Given the description of an element on the screen output the (x, y) to click on. 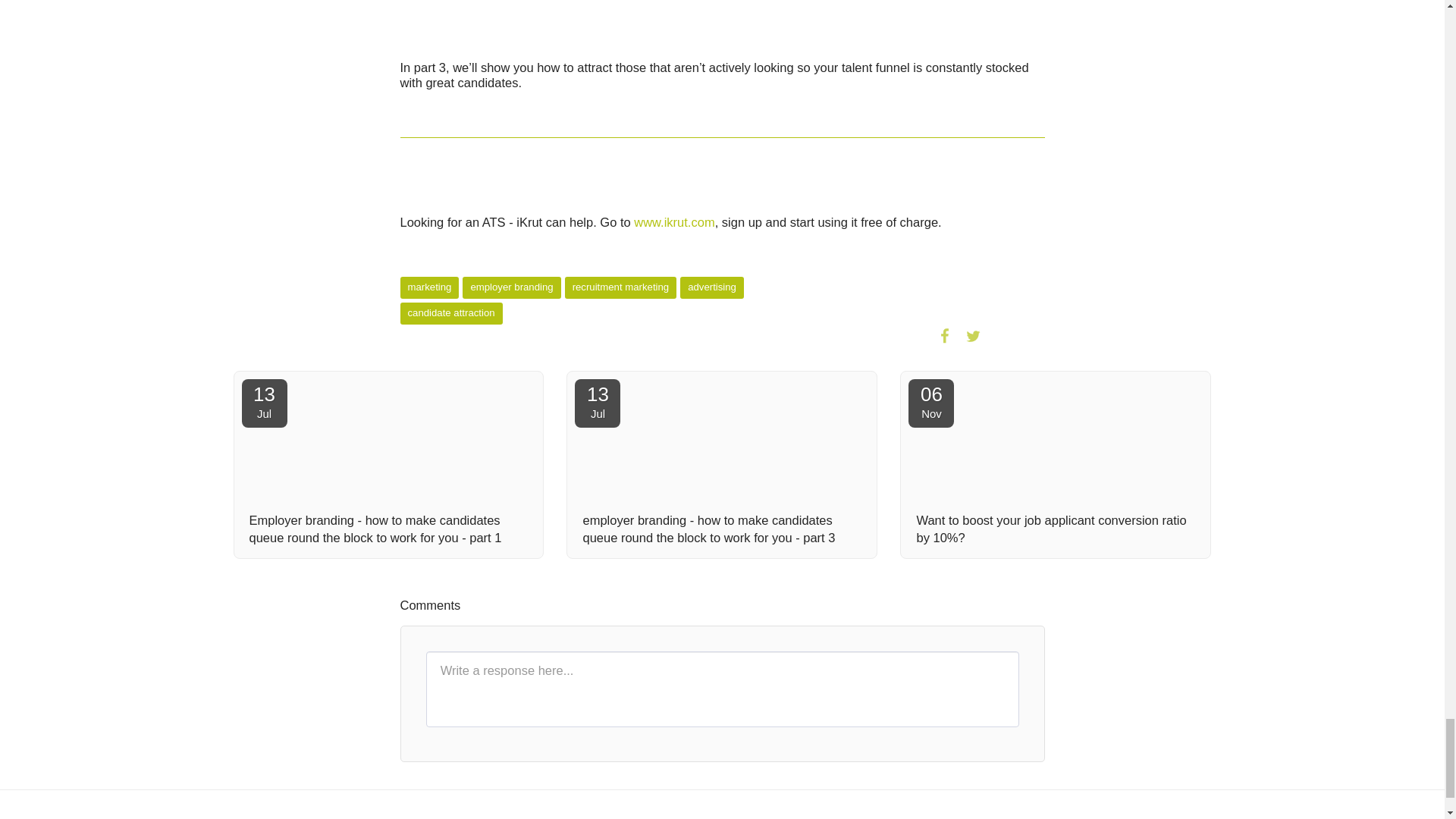
RSS (1029, 335)
Share on Facebook (945, 335)
employer branding (511, 287)
recruitment marketing (620, 287)
